Given the description of an element on the screen output the (x, y) to click on. 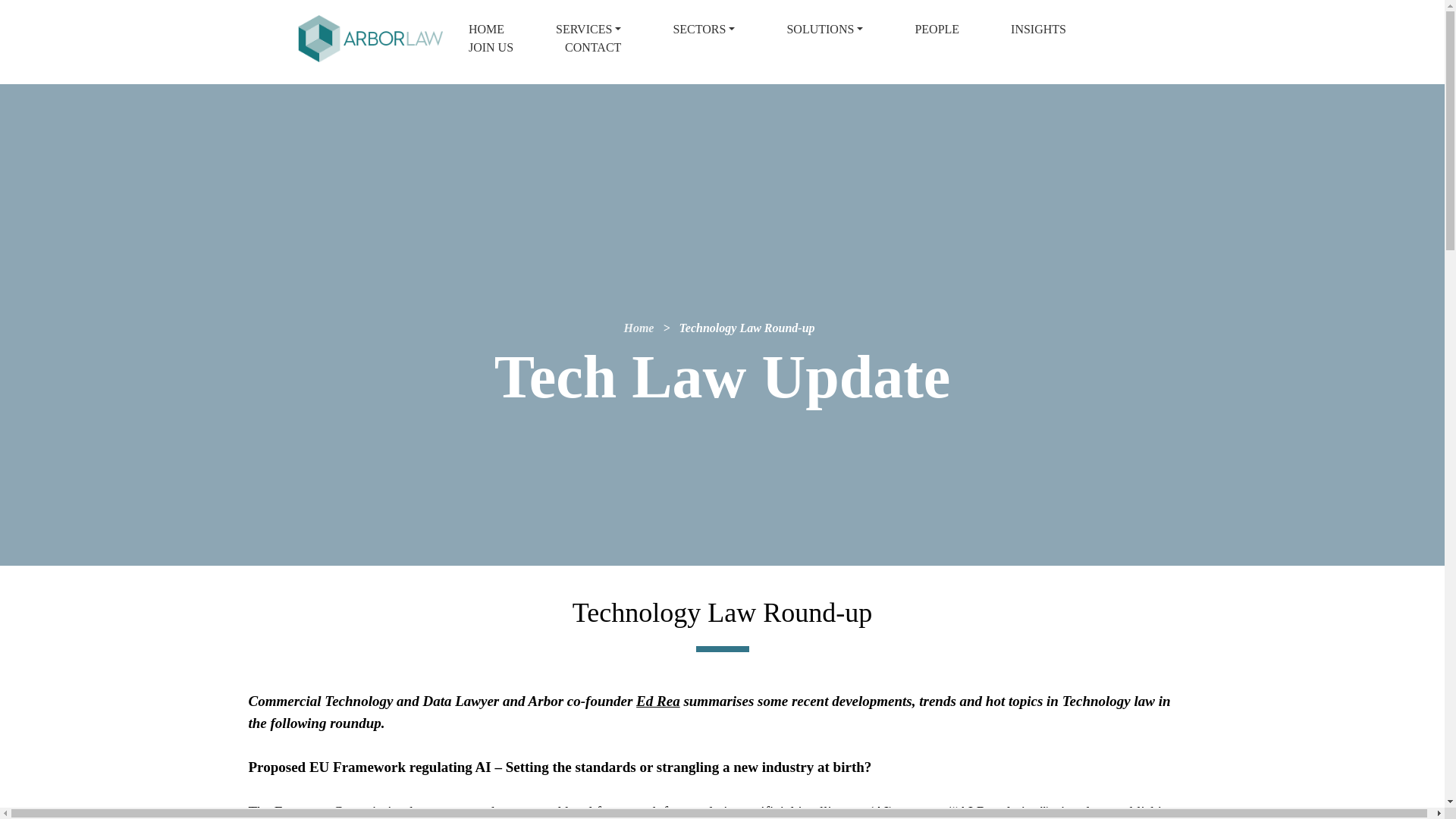
SOLUTIONS (824, 29)
SECTORS (703, 29)
Ed Rea (657, 703)
SERVICES (587, 29)
PEOPLE (936, 29)
CONTACT (579, 47)
INSIGHTS (1038, 29)
HOME (485, 29)
Home (638, 327)
JOIN US (490, 47)
